Given the description of an element on the screen output the (x, y) to click on. 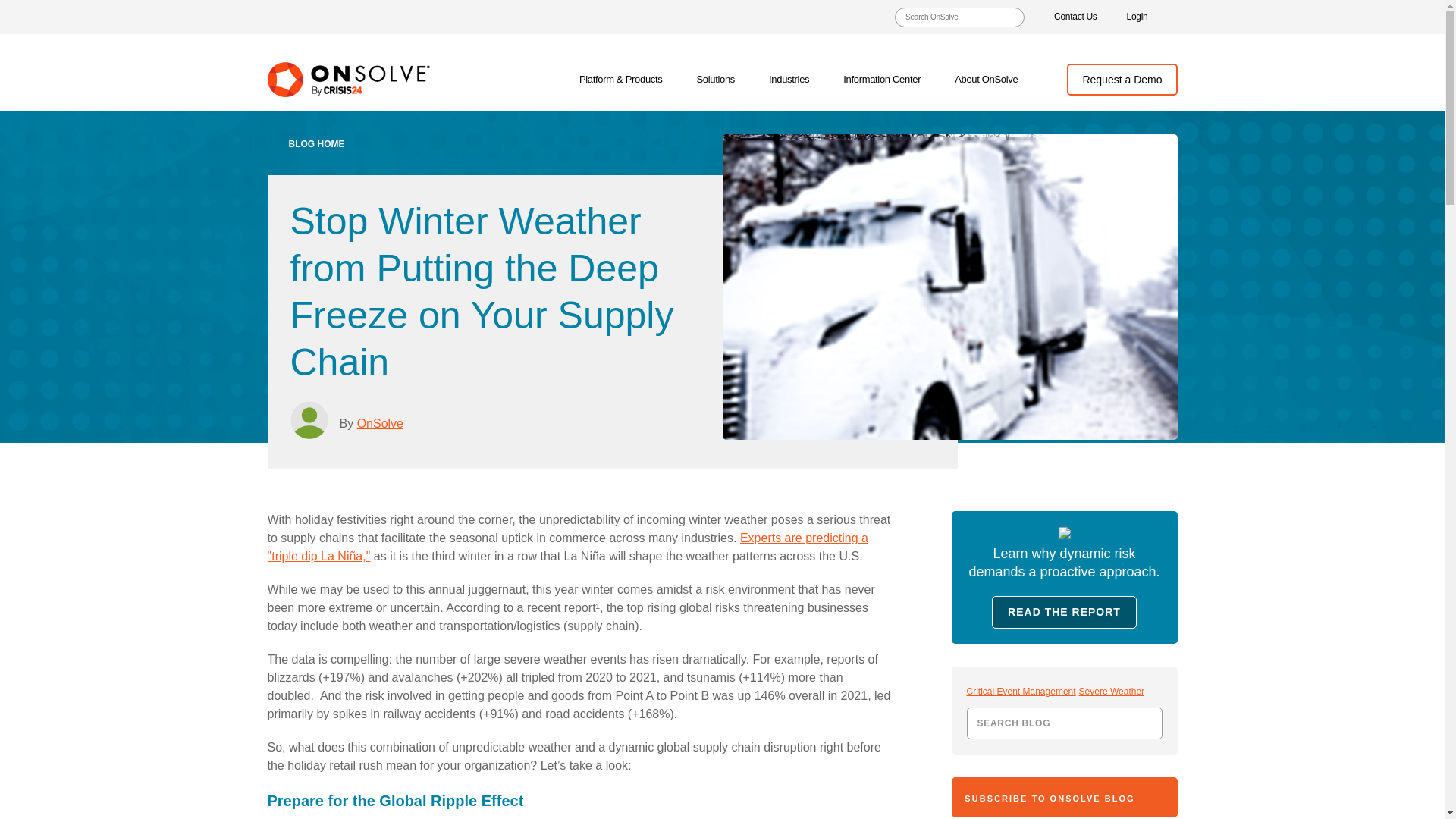
Solutions (717, 80)
Search (1008, 16)
Search (1008, 16)
Login (1137, 16)
Search Blog (1063, 723)
Search (1145, 723)
Search (1008, 16)
Industries (791, 80)
Contact Us (1075, 16)
Search (1145, 723)
